Given the description of an element on the screen output the (x, y) to click on. 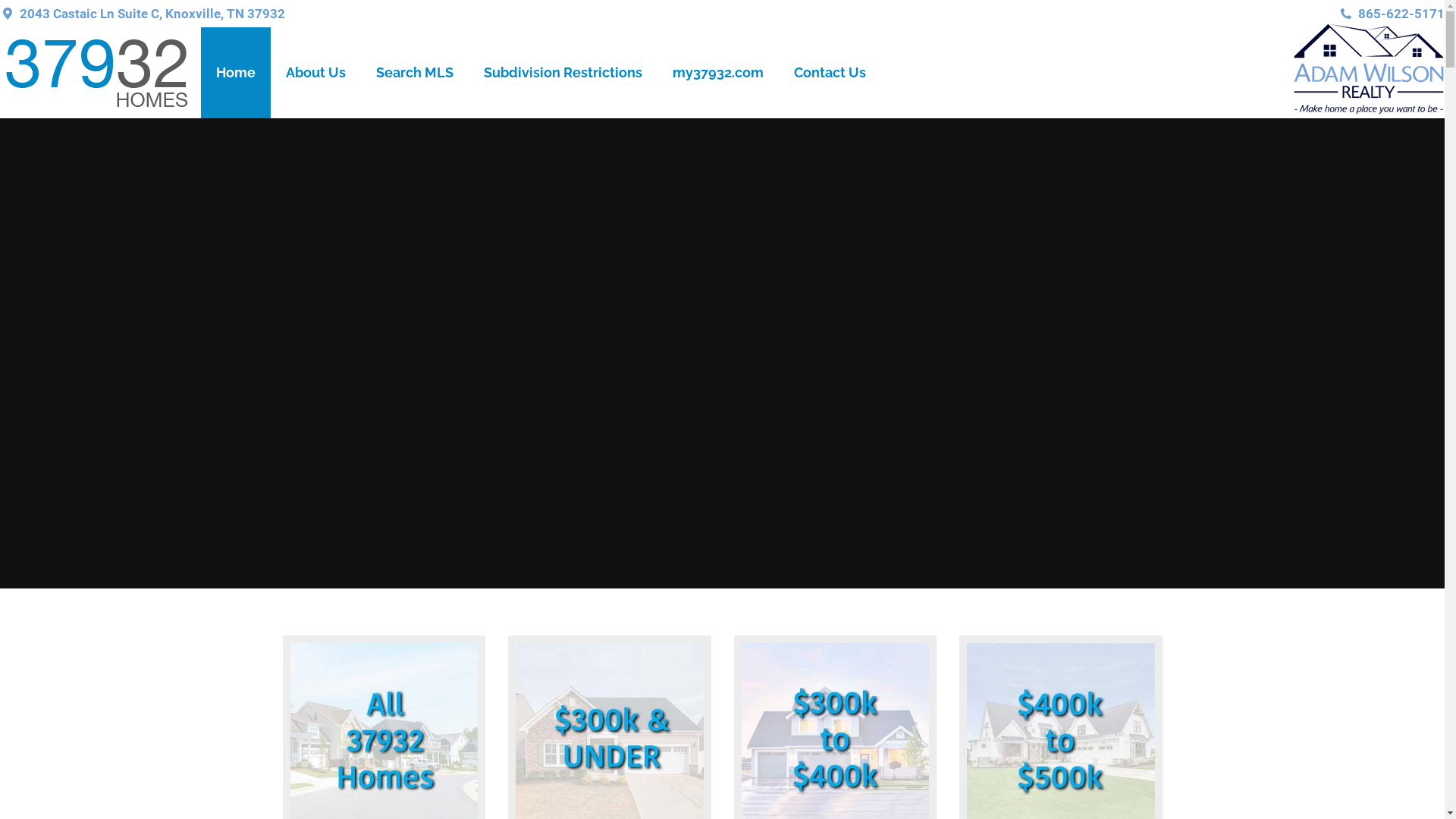
Contact Us Element type: text (829, 72)
Subdivision Restrictions Element type: text (562, 72)
Home Element type: text (235, 72)
Search MLS Element type: text (414, 72)
my37932.com Element type: text (717, 72)
About Us Element type: text (315, 72)
